Given the description of an element on the screen output the (x, y) to click on. 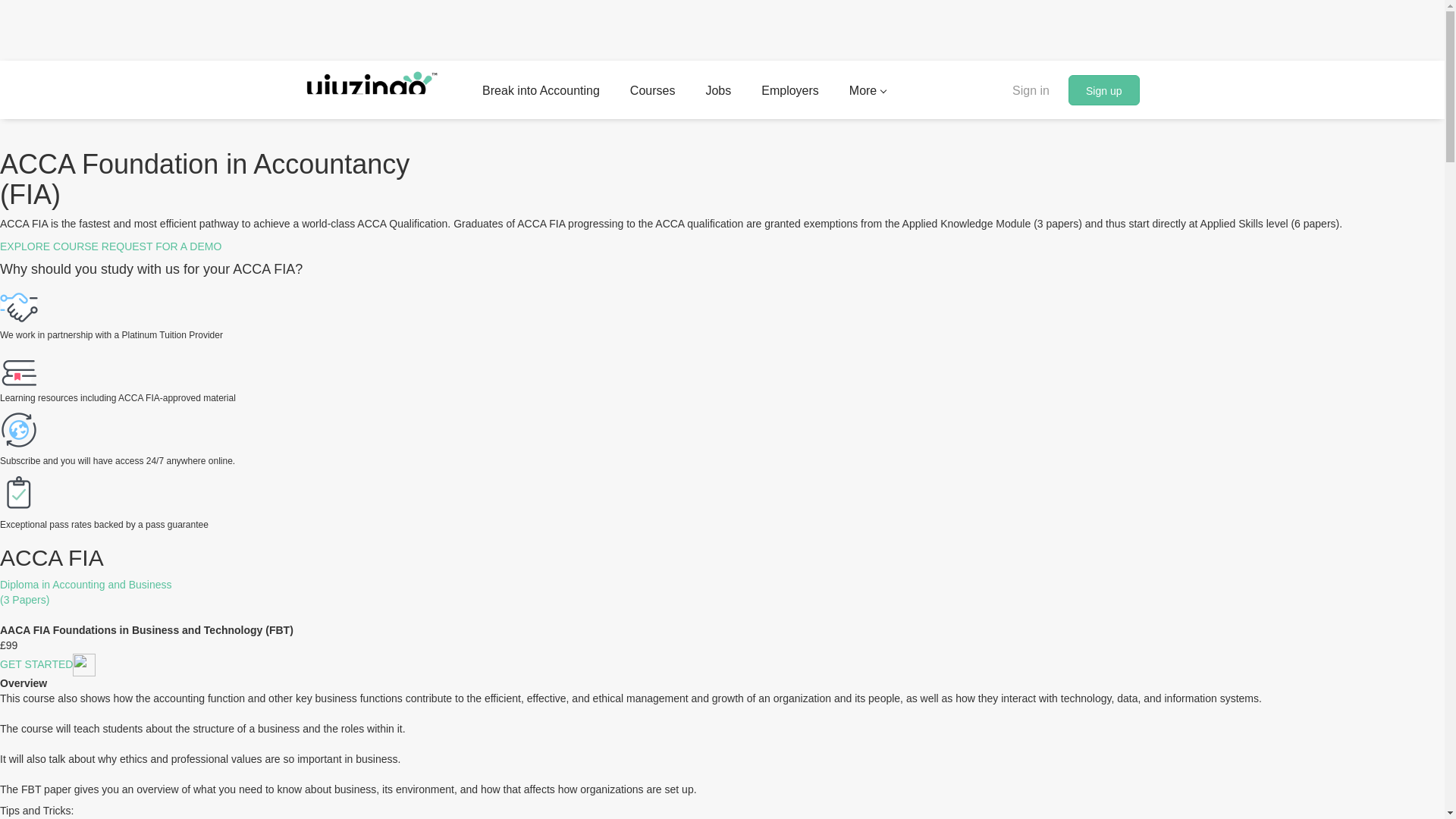
More (866, 93)
Jobs (717, 93)
Employers (789, 93)
Sign up (1103, 90)
Break into Accounting (540, 93)
Courses (652, 93)
Sign in (1031, 89)
EXPLORE COURSE (49, 246)
GET STARTED (36, 663)
REQUEST FOR A DEMO (161, 246)
